Given the description of an element on the screen output the (x, y) to click on. 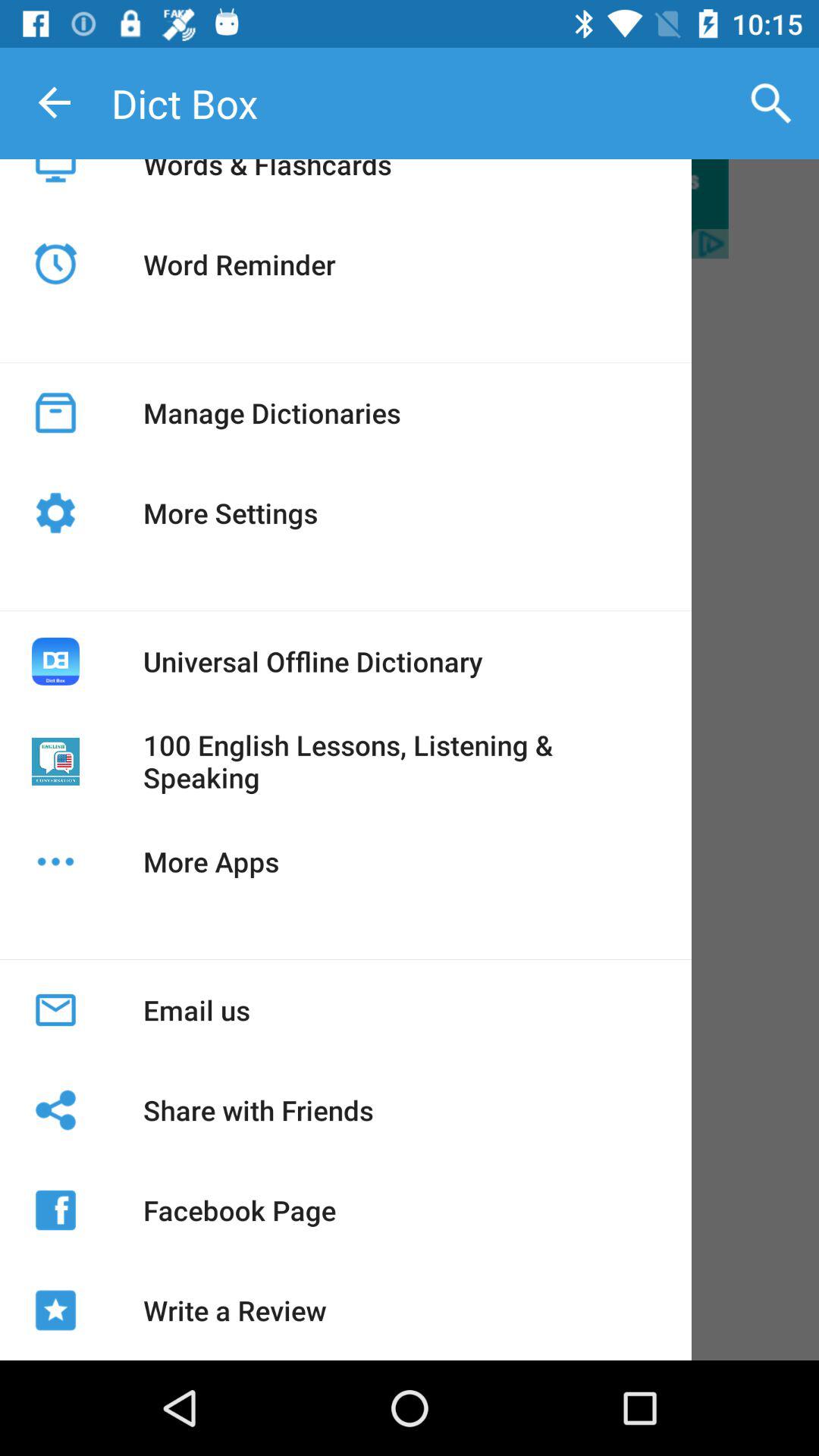
select word (409, 208)
